Given the description of an element on the screen output the (x, y) to click on. 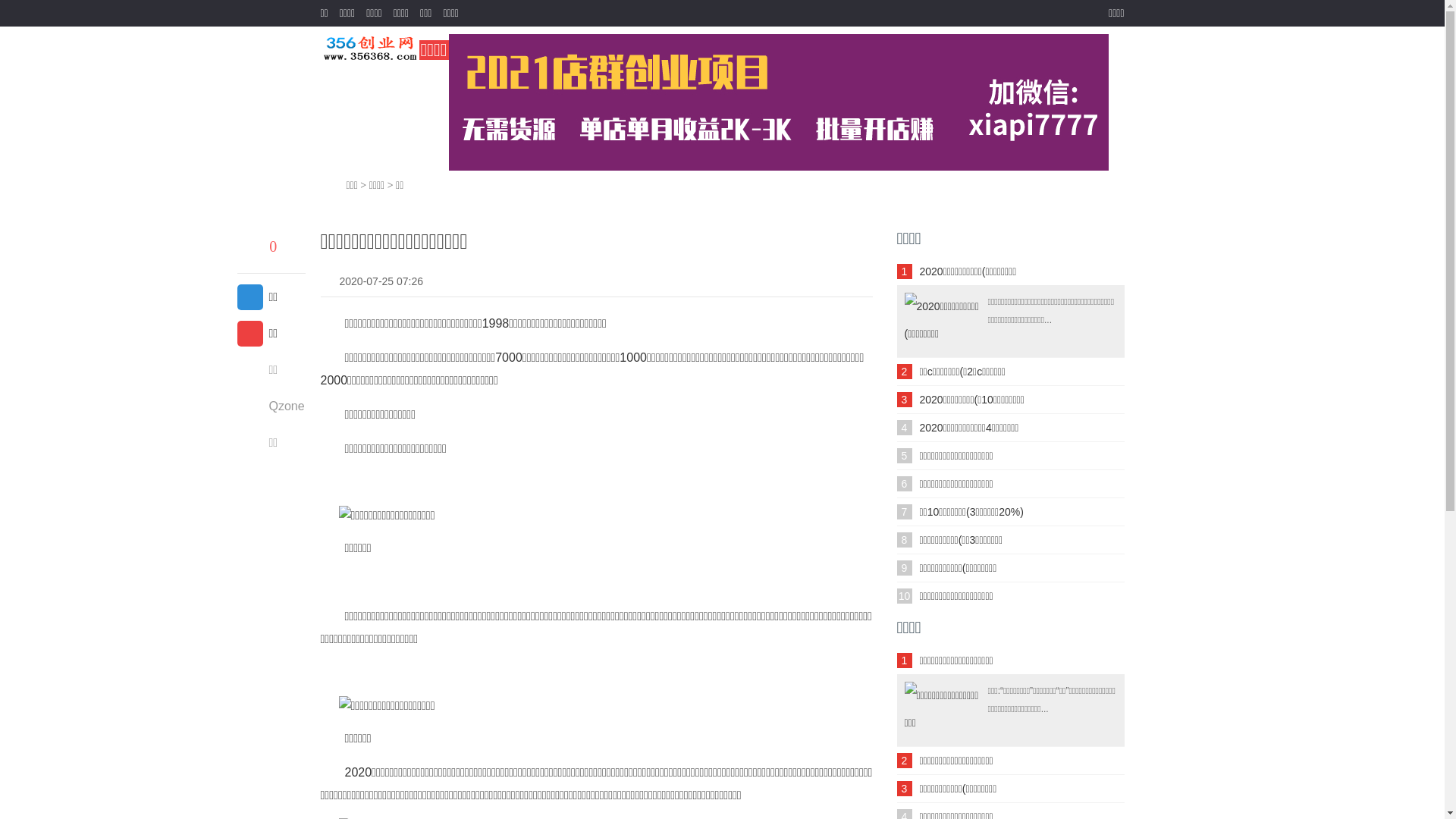
Qzone Element type: text (270, 406)
0 Element type: text (270, 249)
